Given the description of an element on the screen output the (x, y) to click on. 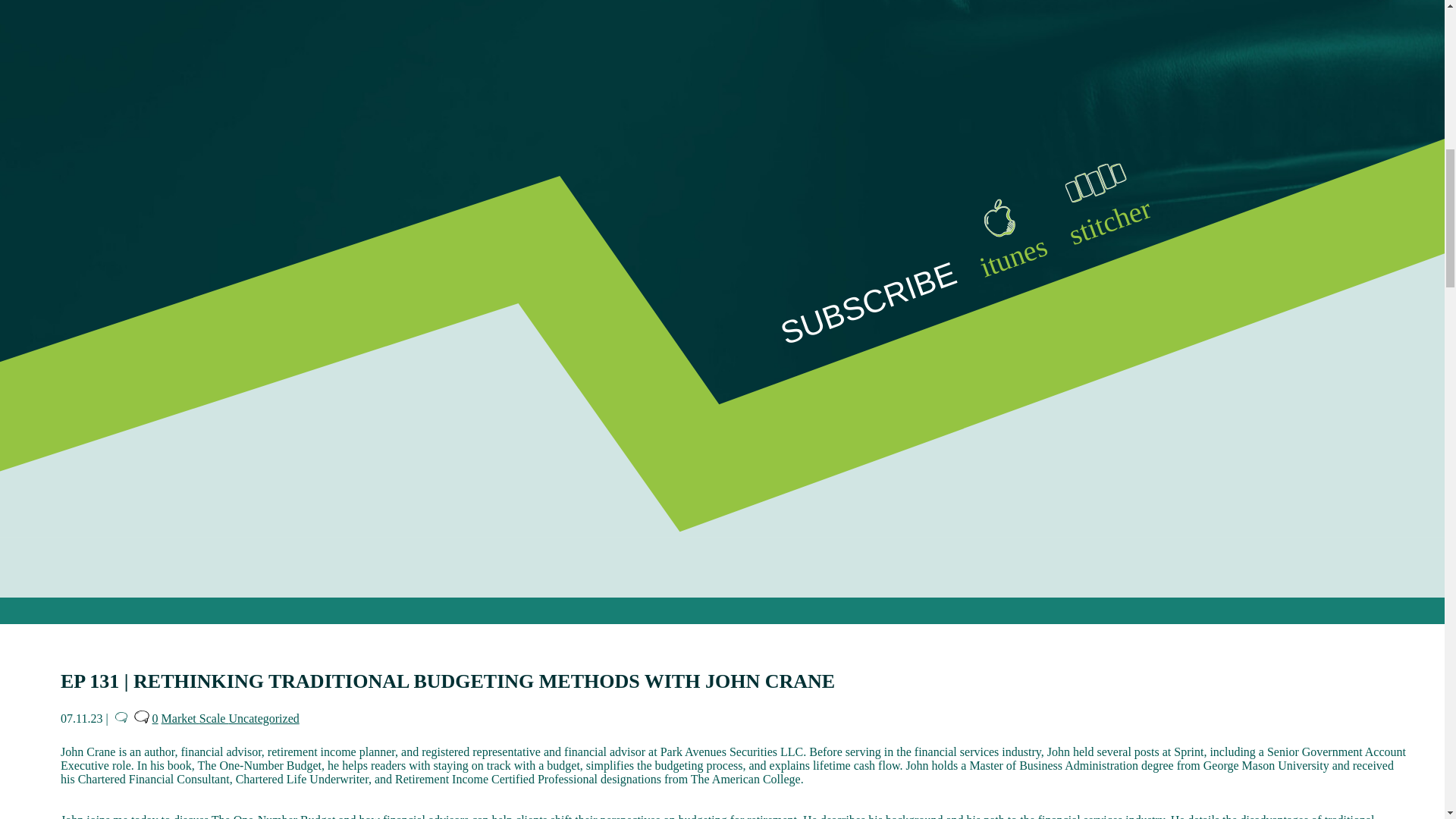
Uncategorized (263, 717)
Scale (213, 717)
Market (180, 717)
0 (145, 717)
stitcher (1091, 186)
itunes (994, 225)
